Given the description of an element on the screen output the (x, y) to click on. 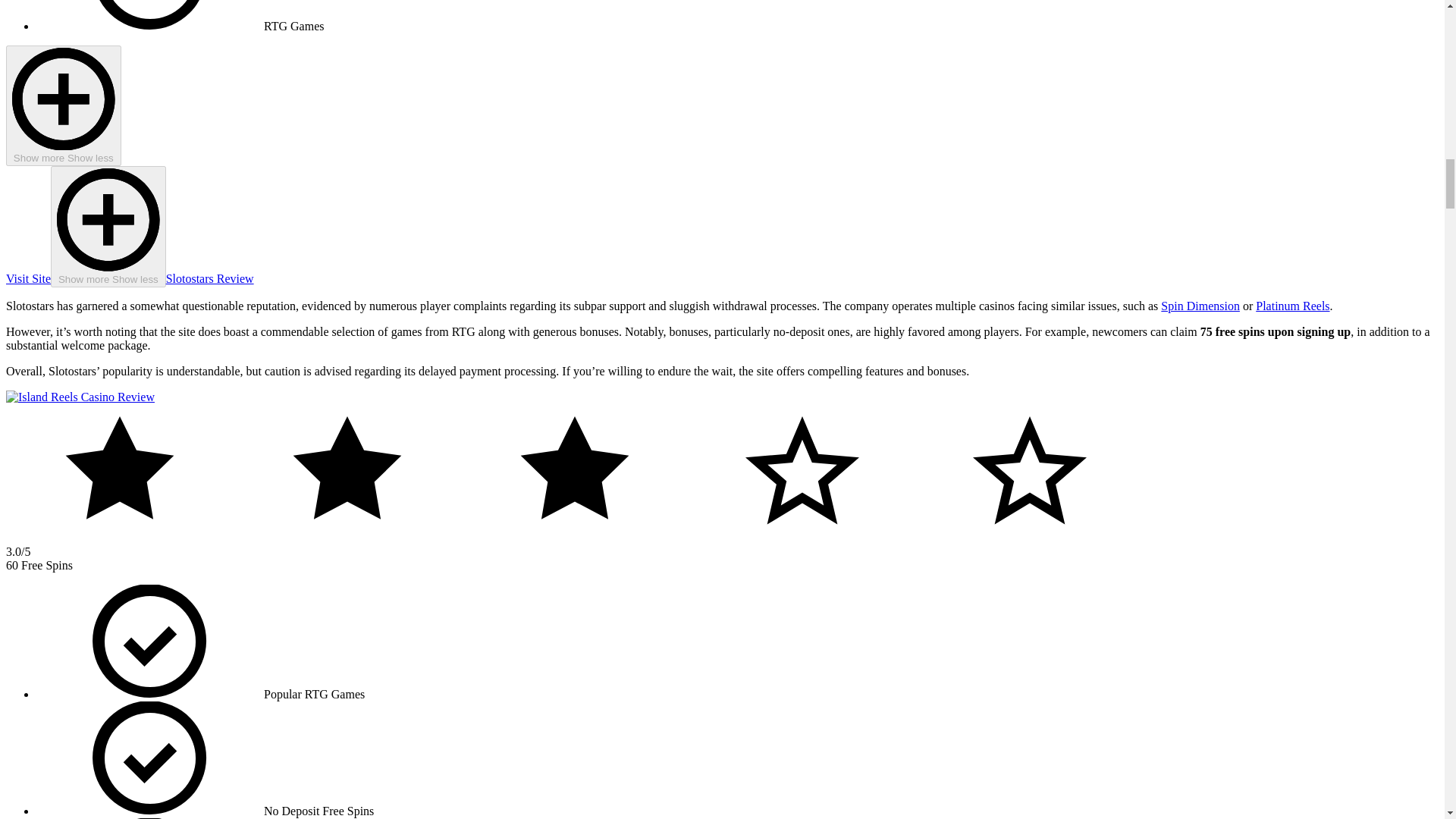
Platinum Reels (1292, 305)
Spin Dimension (1200, 305)
Show more Show less (62, 106)
Show more Show less (107, 226)
Visit Site (27, 278)
Slotostars Review (209, 278)
